Given the description of an element on the screen output the (x, y) to click on. 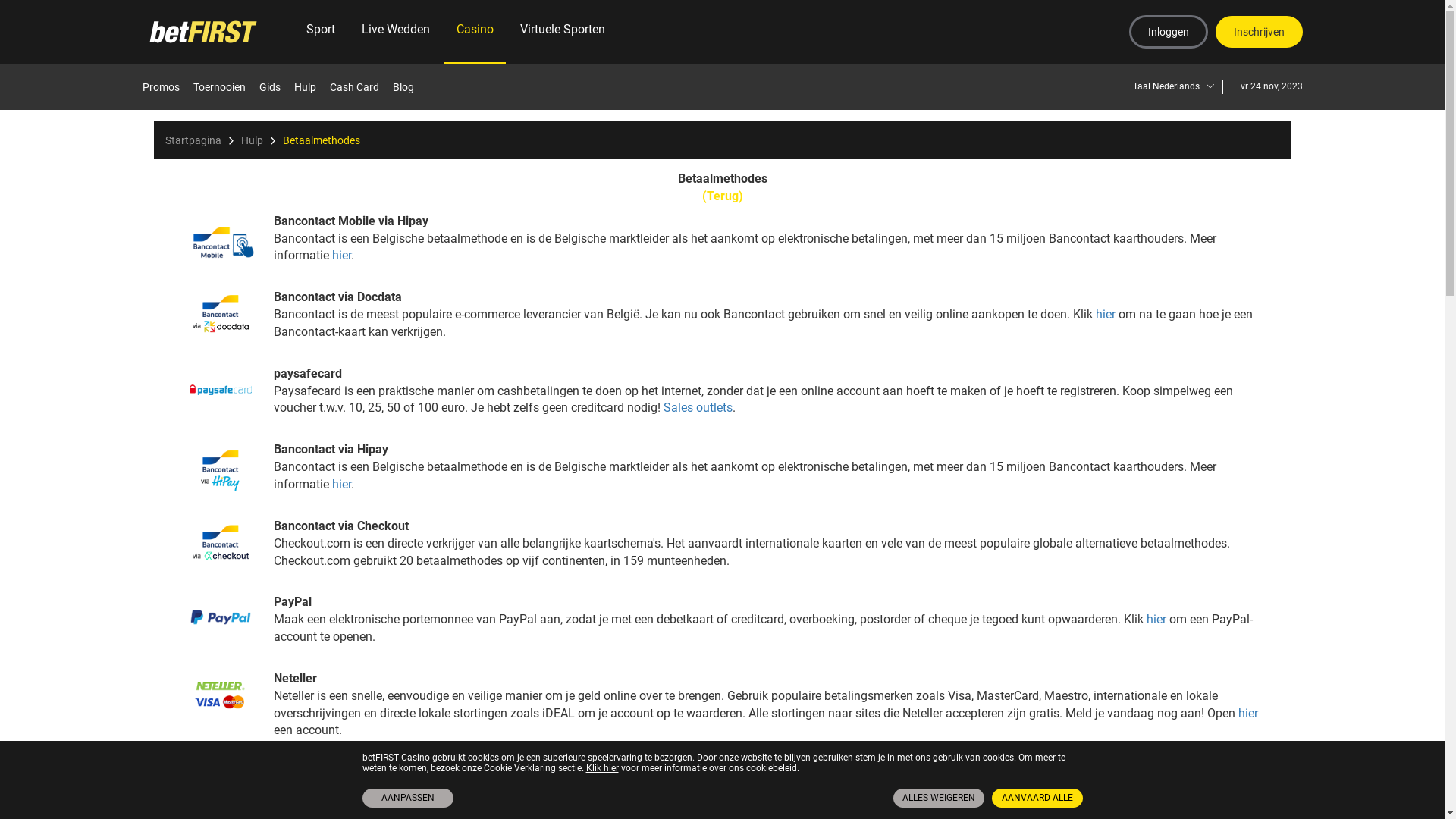
hier Element type: text (1247, 713)
Sales outlets Element type: text (696, 407)
Klik hier Element type: text (601, 767)
Hulp Element type: text (252, 140)
Startpagina Element type: text (193, 140)
hier Element type: text (341, 254)
Inloggen Element type: text (1167, 31)
Hulp Element type: text (310, 87)
Promos Element type: text (166, 87)
Taal Nederlands Element type: text (1177, 86)
Toernooien Element type: text (224, 87)
(Terug) Element type: text (721, 196)
hier Element type: text (1104, 314)
Inschrijven Element type: text (1258, 31)
Cash Card Element type: text (359, 87)
Betaalmethodes Element type: text (320, 140)
Blog Element type: text (408, 87)
hier Element type: text (341, 483)
hier Element type: text (1157, 618)
Gids Element type: text (275, 87)
